Given the description of an element on the screen output the (x, y) to click on. 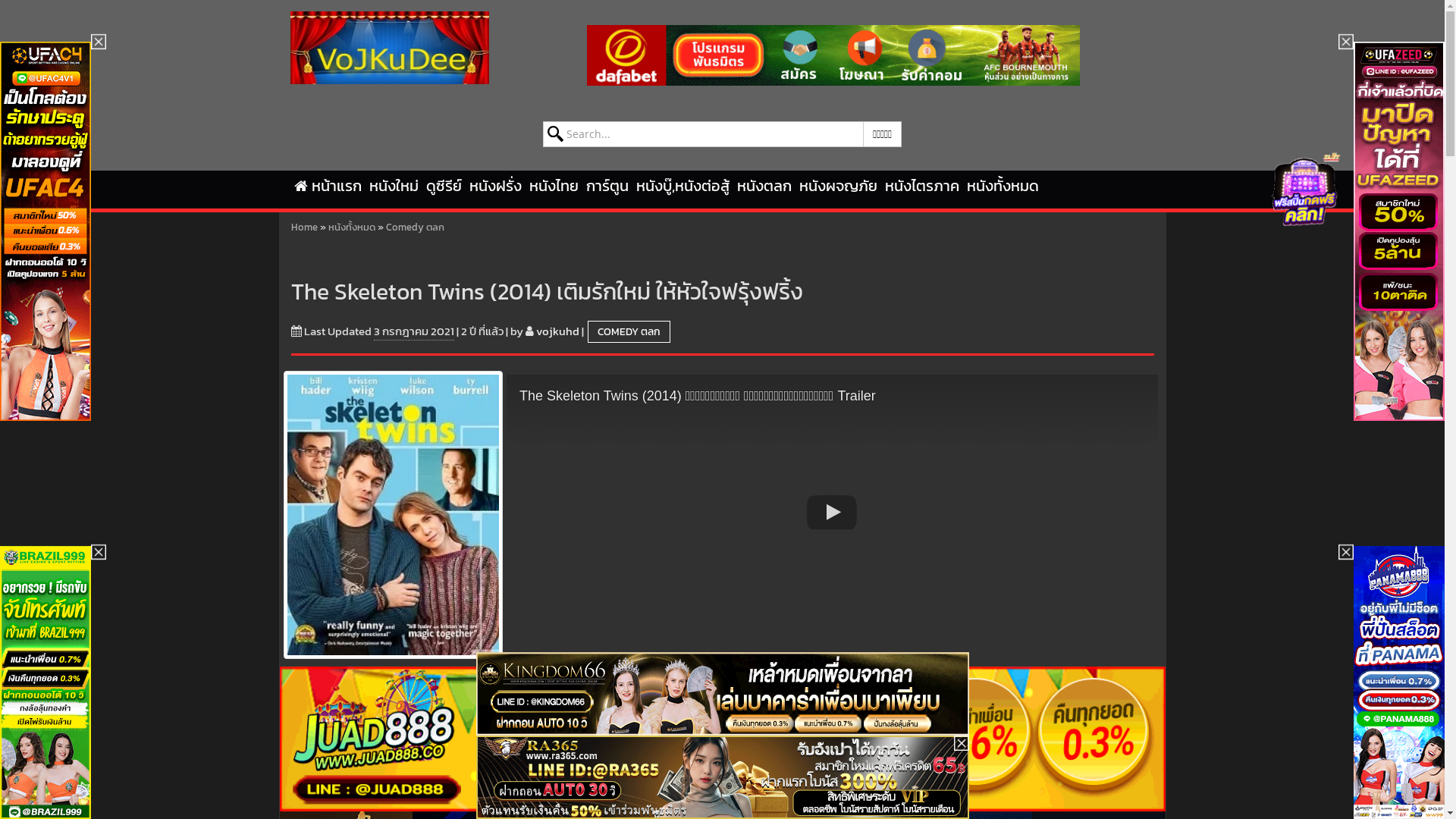
Search for: Element type: hover (702, 134)
Home Element type: text (304, 226)
vojkuhd Element type: text (556, 330)
Skip to content Element type: text (47, 180)
